Given the description of an element on the screen output the (x, y) to click on. 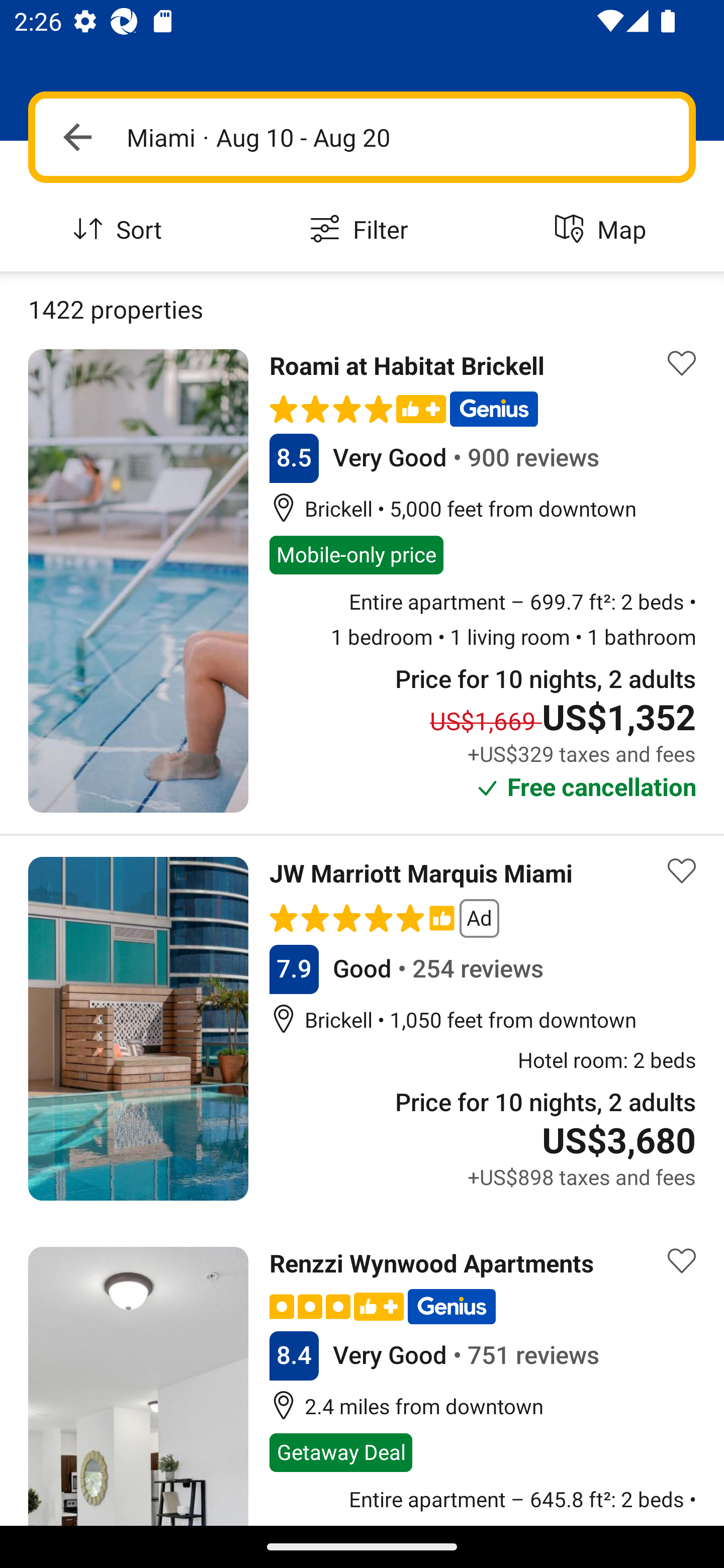
Navigate up Miami · Aug 10 - Aug 20 (362, 136)
Navigate up (77, 136)
Sort (120, 230)
Filter (361, 230)
Map (603, 230)
Save property to list (681, 363)
Save property to list (681, 870)
Save property to list (681, 1260)
